Given the description of an element on the screen output the (x, y) to click on. 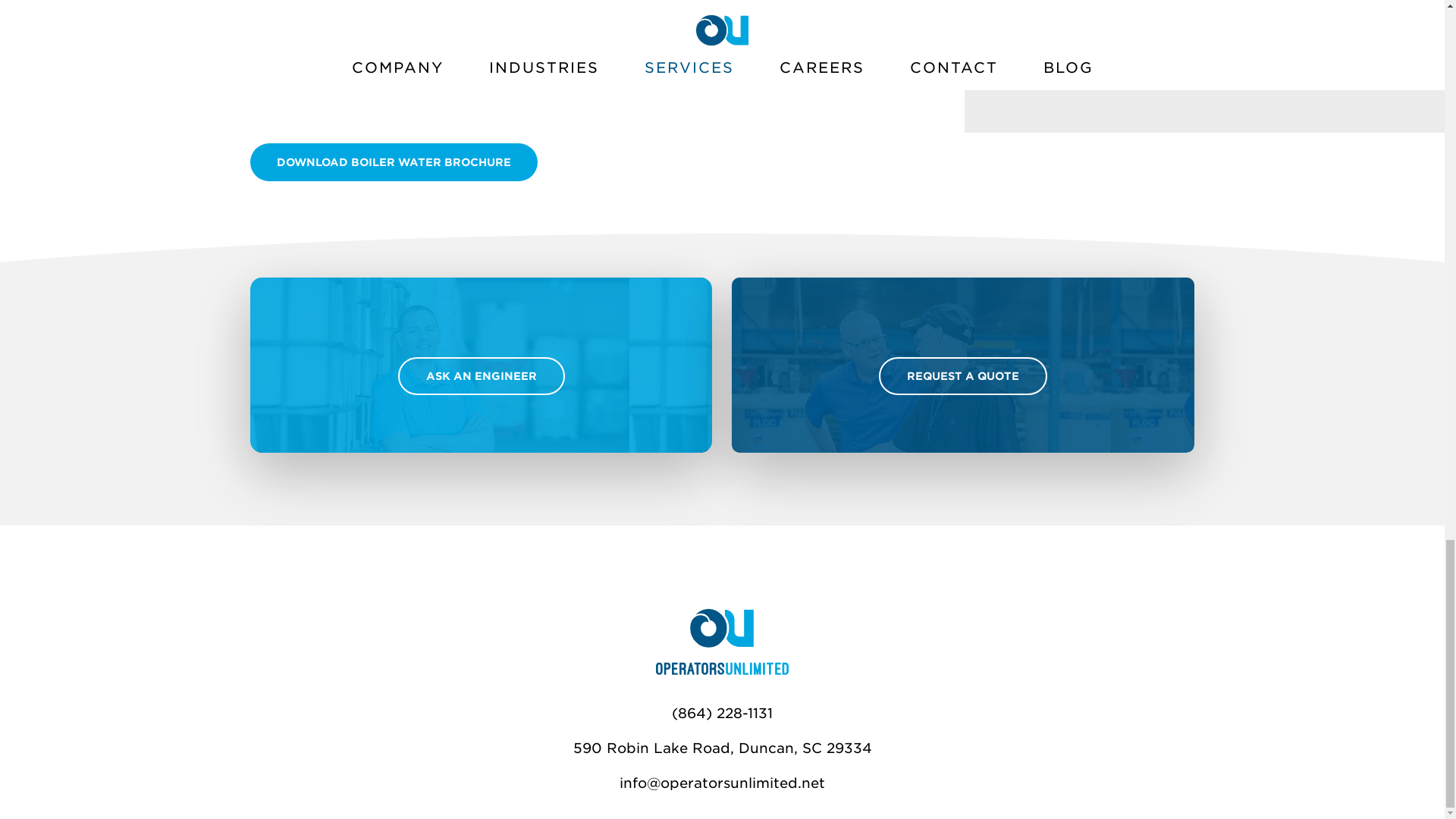
Home (722, 671)
DOWNLOAD BOILER WATER BROCHURE (393, 161)
ASK AN ENGINEER (480, 375)
REQUEST A QUOTE (962, 375)
